Given the description of an element on the screen output the (x, y) to click on. 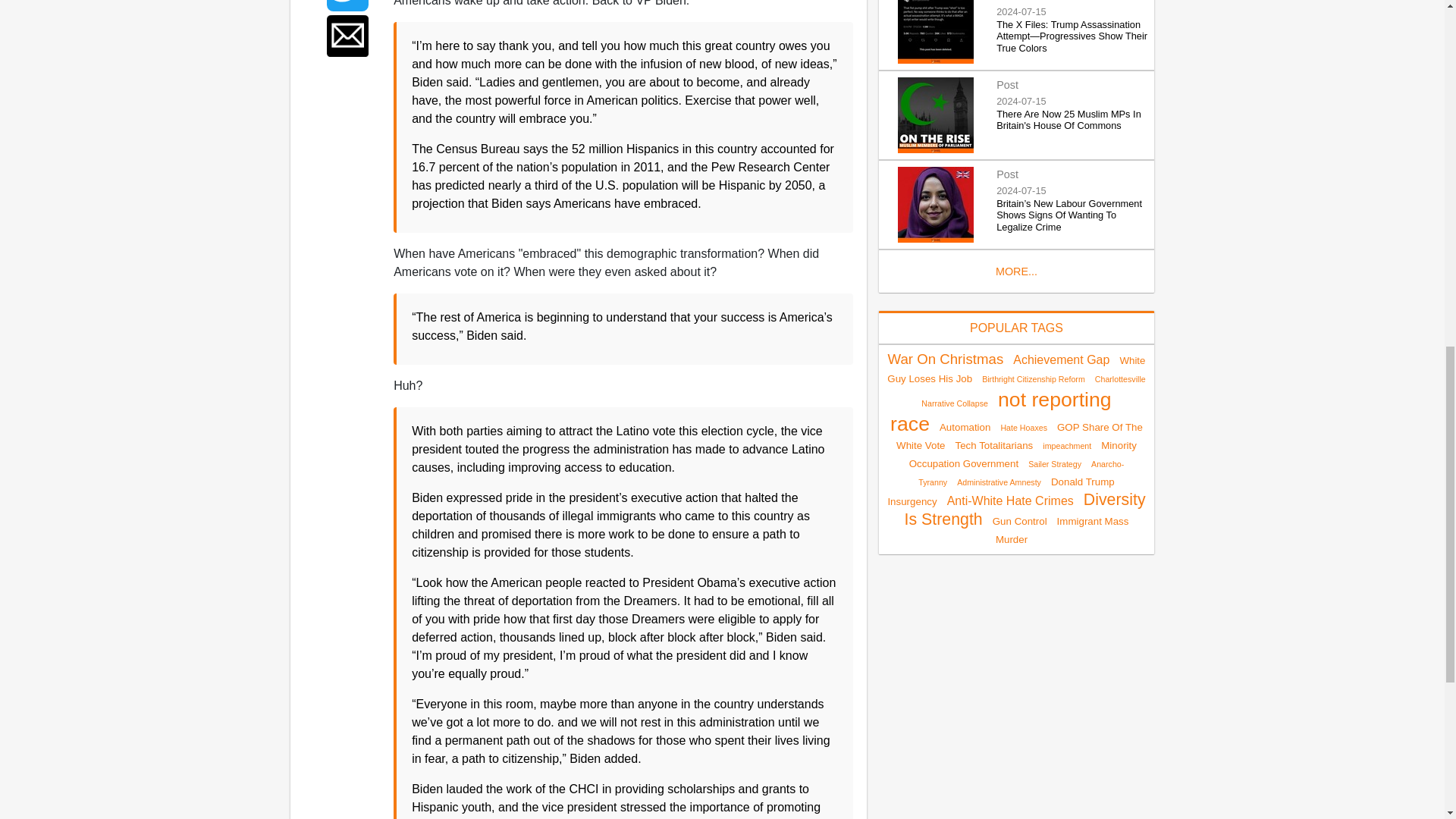
Share to Twitter (347, 5)
Share to Email (347, 35)
